Given the description of an element on the screen output the (x, y) to click on. 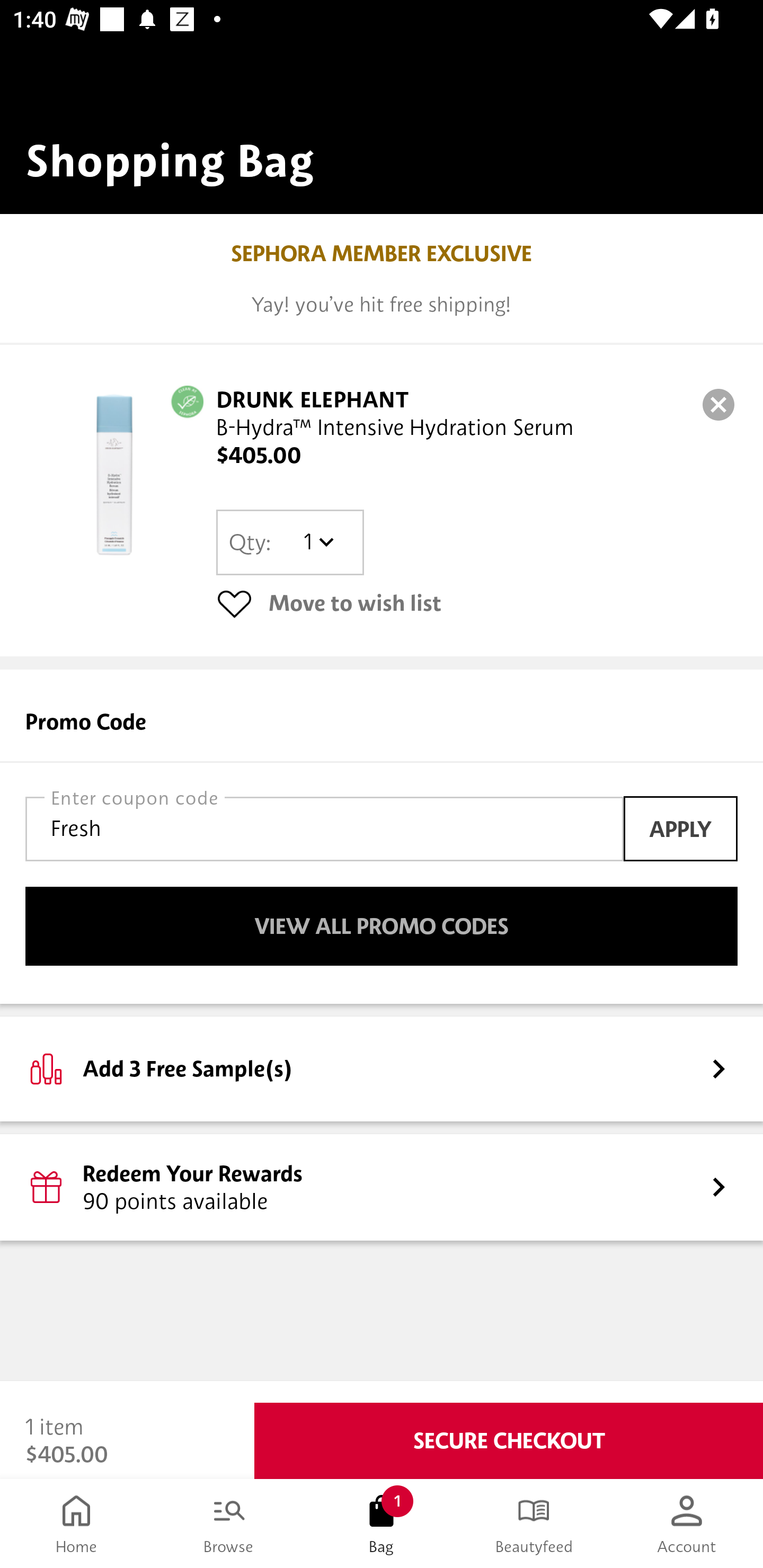
1 (317, 542)
Move to wish list (476, 602)
Promo Code Fresh APPLY VIEW ALL PROMO CODES (381, 836)
APPLY (680, 828)
Fresh (324, 828)
VIEW ALL PROMO CODES (381, 926)
Add 3 Free Sample(s) (381, 1068)
Redeem Your Rewards 90 points available (381, 1186)
SECURE CHECKOUT (508, 1440)
Home (76, 1523)
Browse (228, 1523)
Beautyfeed (533, 1523)
Account (686, 1523)
